Given the description of an element on the screen output the (x, y) to click on. 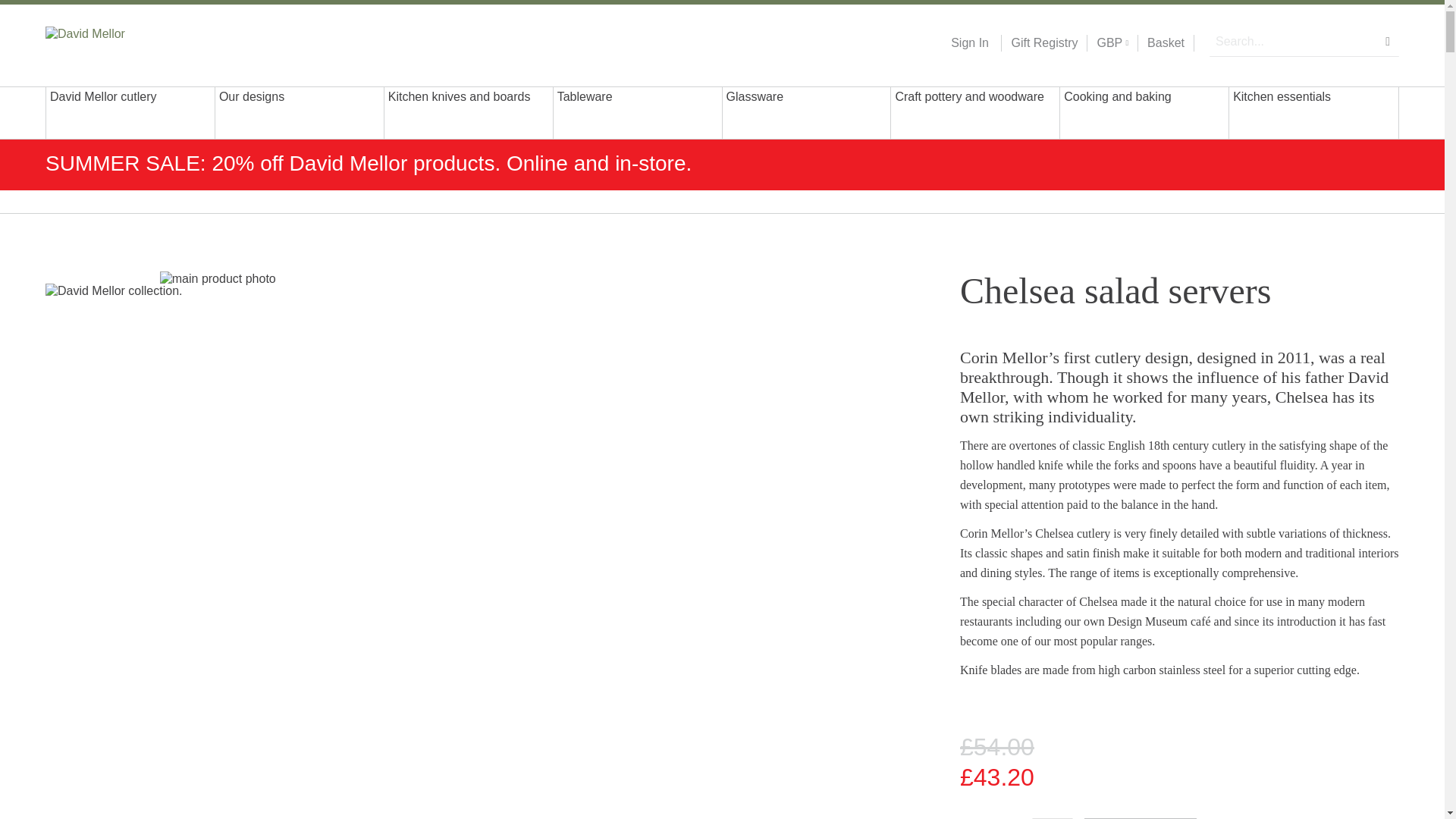
Search (1388, 41)
David Mellor (143, 42)
Gift Registry (1039, 43)
1 (1052, 818)
David Mellor cutlery (130, 112)
Qty (1052, 818)
Sign In (969, 43)
Basket (1166, 43)
Search (1388, 41)
